Given the description of an element on the screen output the (x, y) to click on. 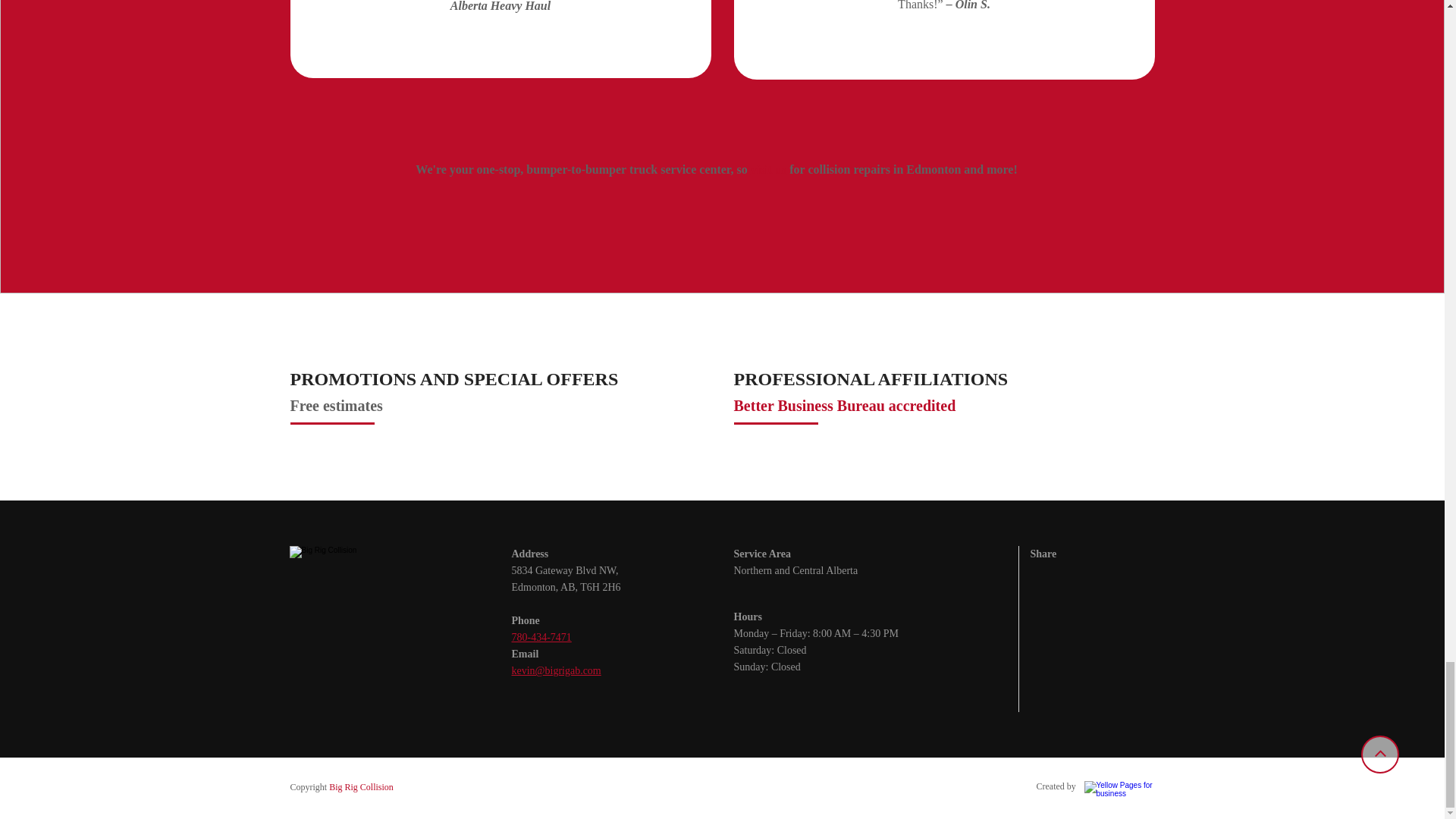
780-434-7471 (540, 636)
Big Rig Collision (361, 787)
visit us (769, 171)
Better Business Bureau accredited (844, 405)
